Given the description of an element on the screen output the (x, y) to click on. 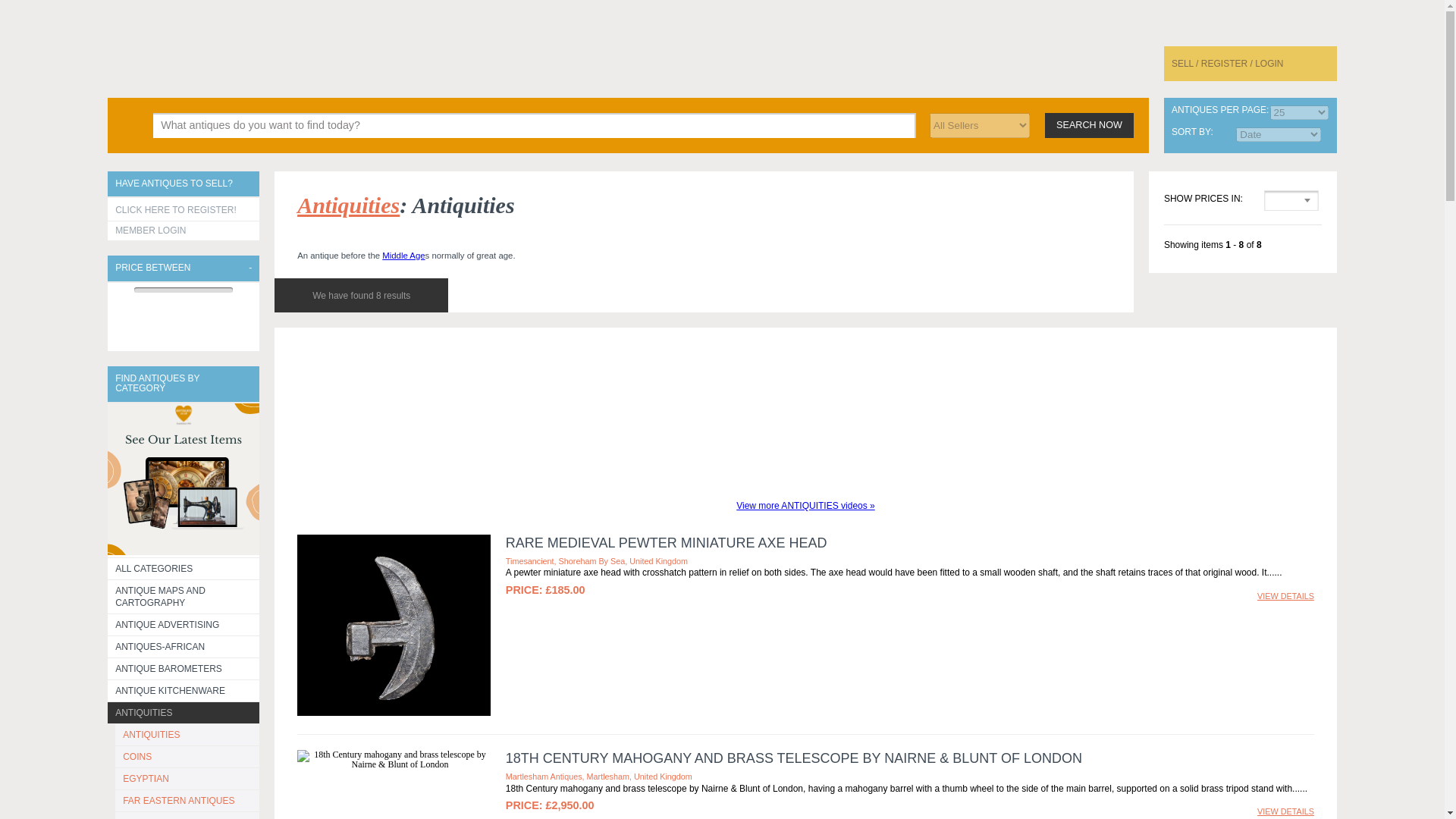
MEMBER LOGIN (183, 230)
ANTIQUES-AFRICAN (183, 646)
ANTIQUE ADVERTISING (183, 624)
ANTIQUE KITCHENWARE (183, 690)
EGYPTIAN (187, 778)
ANTIQUITIES (187, 734)
ANTIQUITIES (183, 712)
SEARCH NOW (1089, 124)
CLICK HERE TO REGISTER! (183, 209)
ANTIQUE BAROMETERS (183, 668)
COINS (187, 756)
PRICE BETWEEN (183, 267)
FAR EASTERN ANTIQUES (187, 800)
ALL CATEGORIES (183, 568)
ANTIQUE MAPS AND CARTOGRAPHY (183, 596)
